Given the description of an element on the screen output the (x, y) to click on. 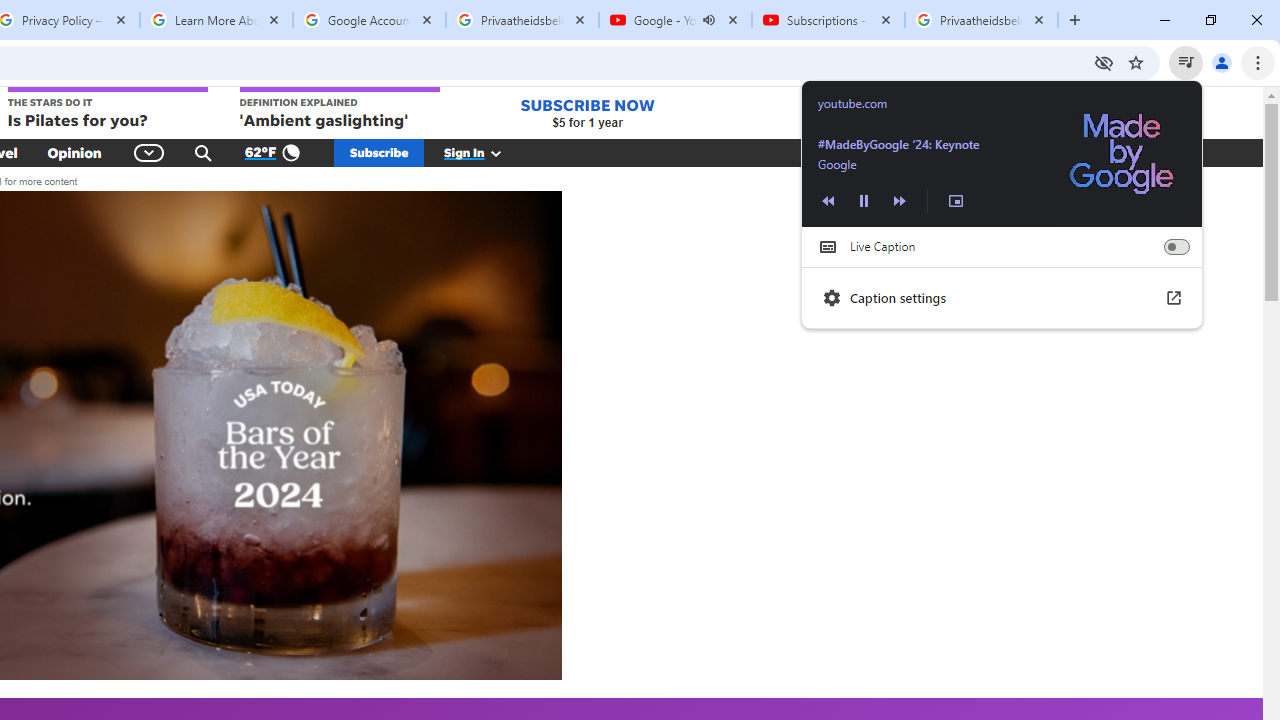
Close (1039, 19)
Opinion (74, 152)
Chrome (1260, 62)
Seek Backward (828, 200)
THE STARS DO IT Is Pilates for you? (106, 109)
Sign In (483, 152)
Google - YouTube - Audio playing (675, 20)
Bookmark this tab (1135, 62)
Play (863, 200)
Global Navigation (149, 152)
DEFINITION EXPLAINED 'Ambient gaslighting' (339, 109)
Google Account (369, 20)
Subscriptions - YouTube (827, 20)
Back to tab (1001, 153)
